Given the description of an element on the screen output the (x, y) to click on. 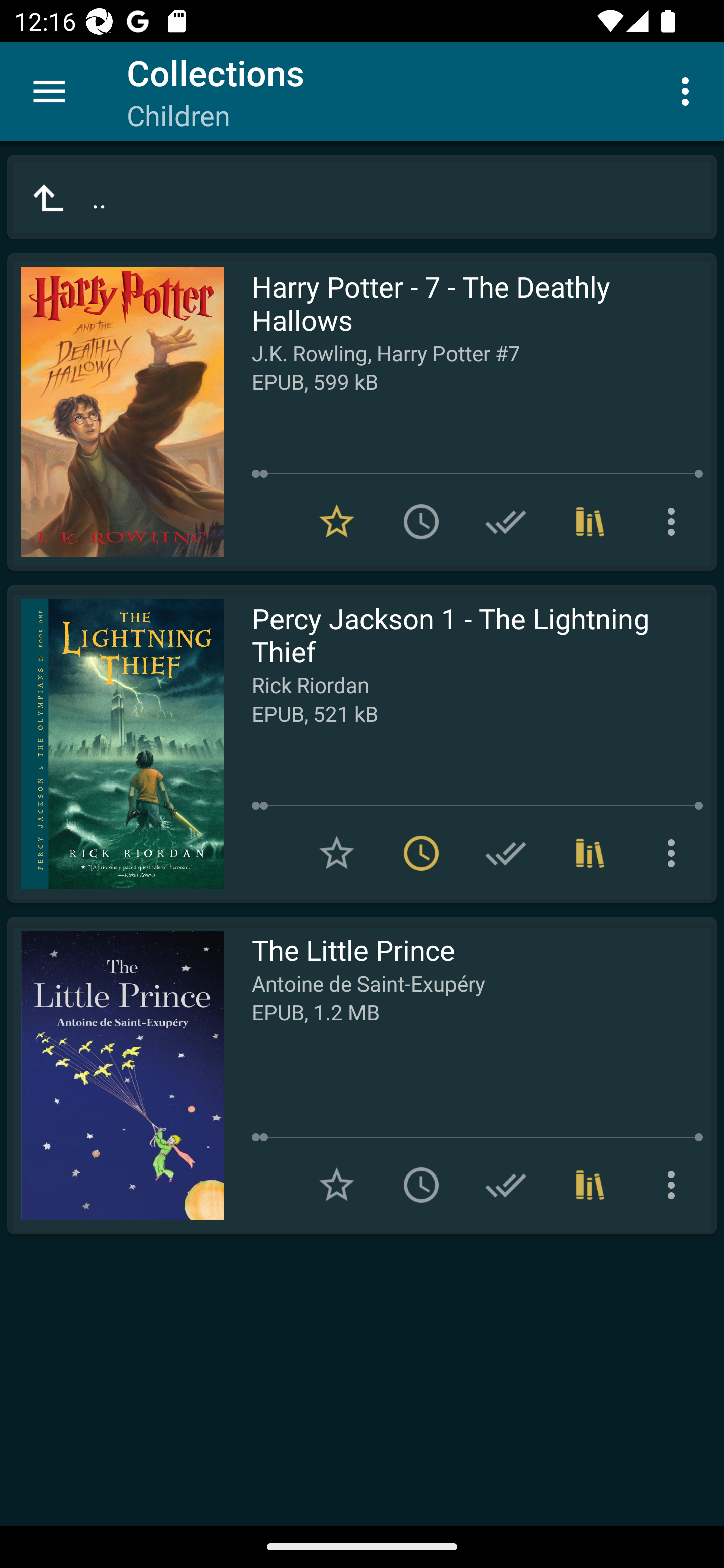
Menu (49, 91)
More options (688, 90)
.. (361, 197)
Read Harry Potter - 7 - The Deathly Hallows (115, 412)
Remove from Favorites (336, 521)
Add to To read (421, 521)
Add to Have read (505, 521)
Collections (1) (590, 521)
More options (674, 521)
Read Percy Jackson 1 - The Lightning Thief (115, 743)
Add to Favorites (336, 852)
Remove from To read (421, 852)
Add to Have read (505, 852)
Collections (1) (590, 852)
More options (674, 852)
Read The Little Prince (115, 1075)
Add to Favorites (336, 1185)
Add to To read (421, 1185)
Add to Have read (505, 1185)
Collections (1) (590, 1185)
More options (674, 1185)
